Given the description of an element on the screen output the (x, y) to click on. 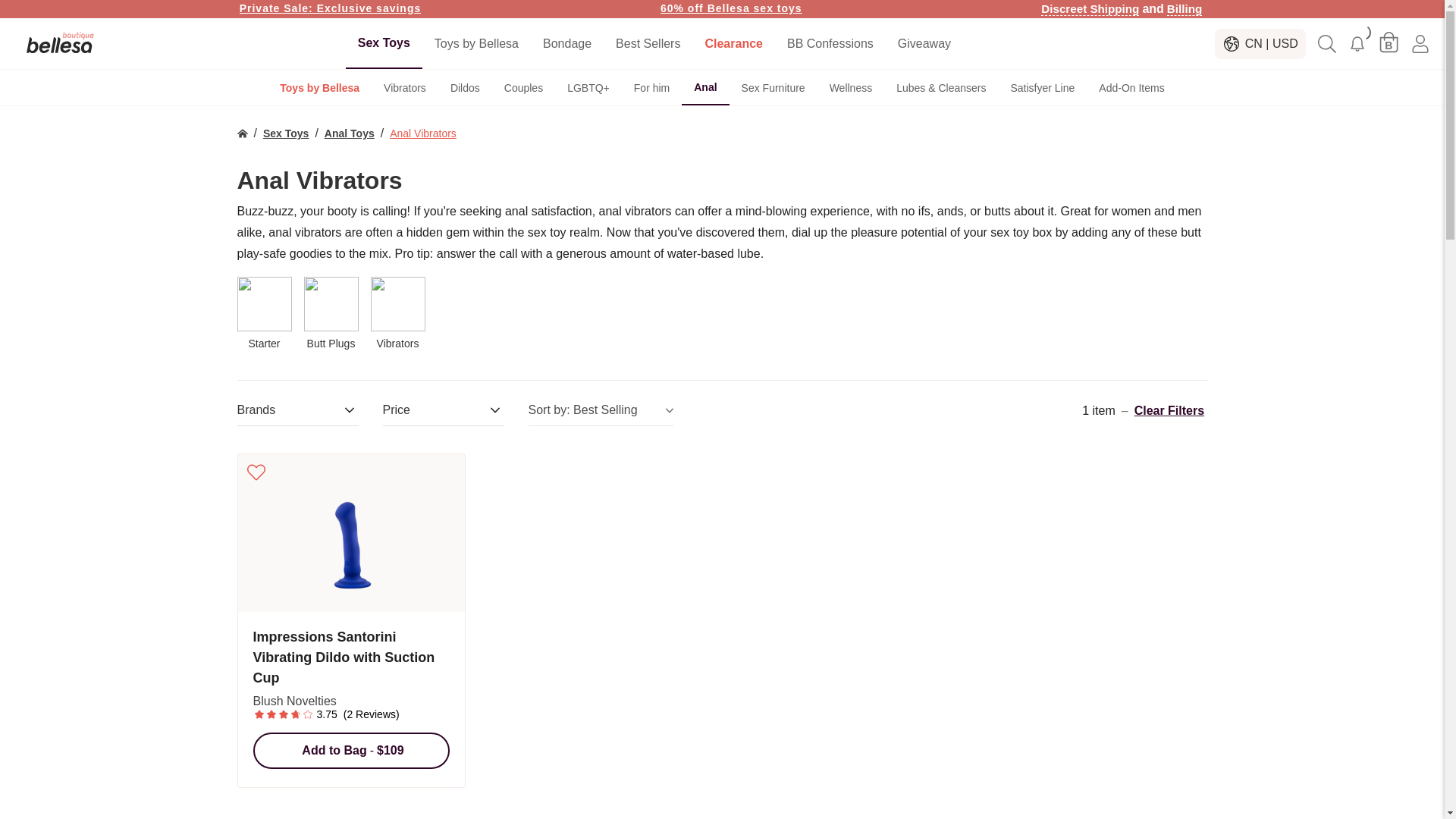
Toys by Bellesa (319, 87)
Couples (523, 87)
Dildos (465, 87)
Private Sale: Exclusive savings (331, 8)
Sex Toys (384, 42)
Vibrators (404, 87)
